Given the description of an element on the screen output the (x, y) to click on. 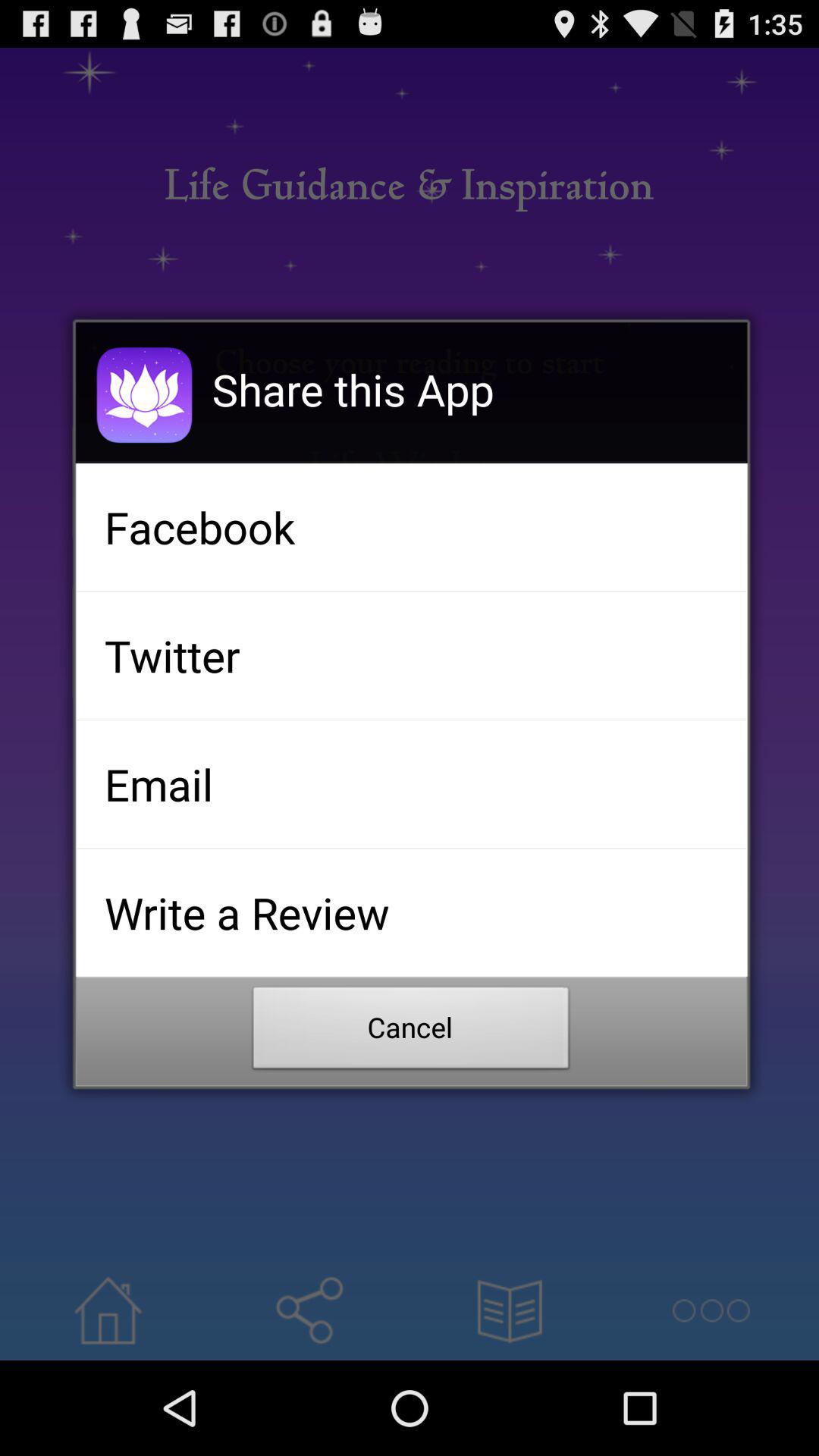
launch cancel button (410, 1032)
